Given the description of an element on the screen output the (x, y) to click on. 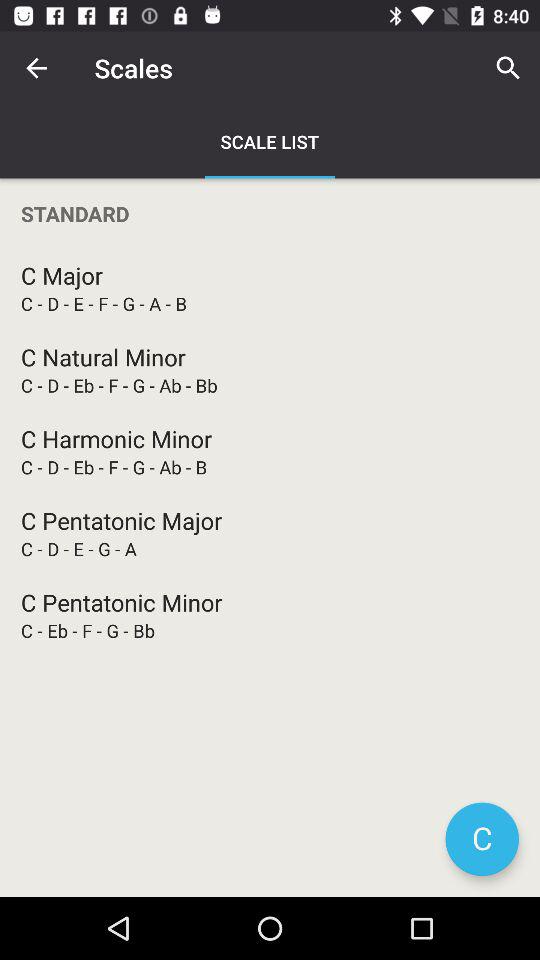
open item to the left of the scales item (36, 68)
